Given the description of an element on the screen output the (x, y) to click on. 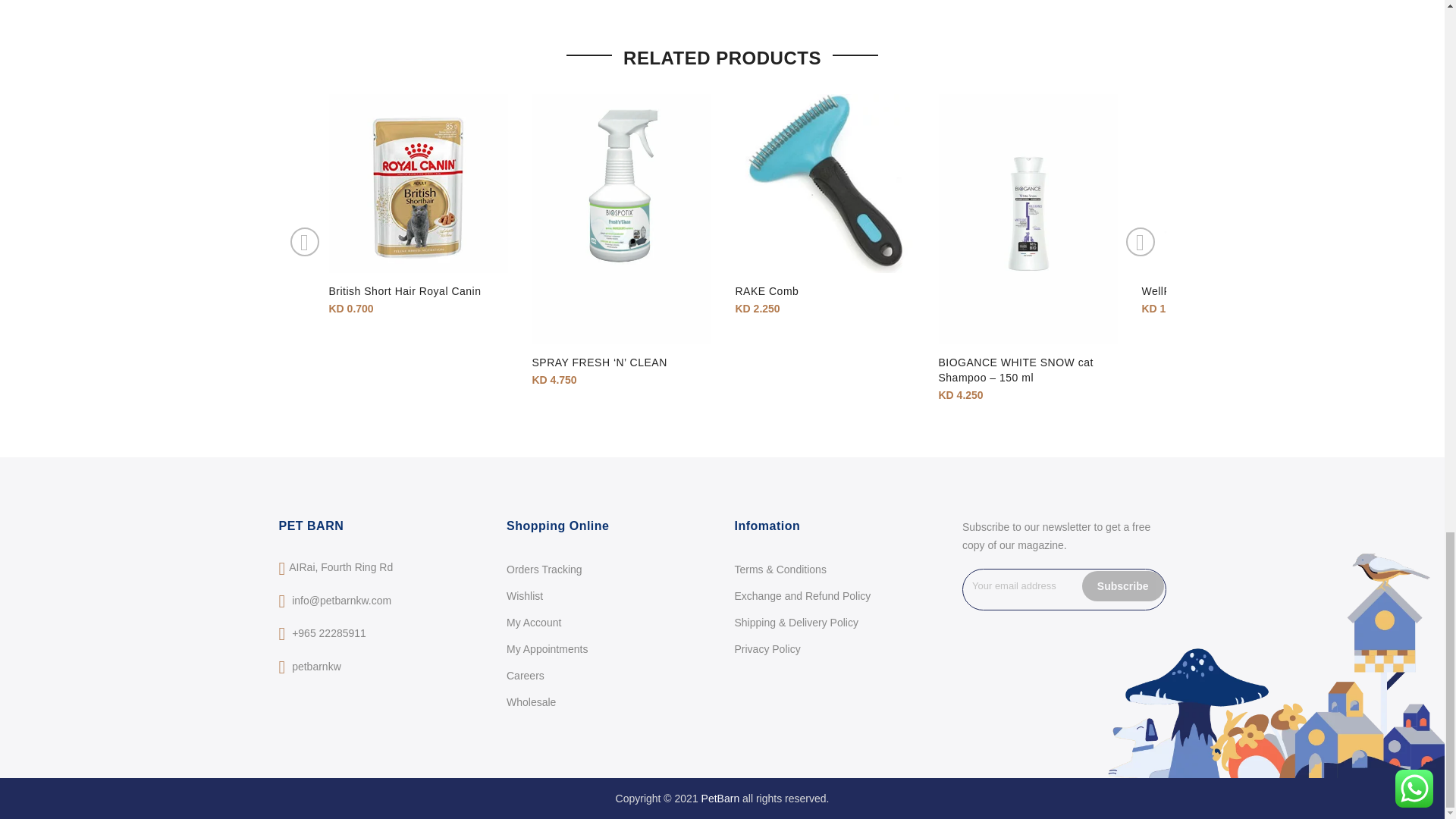
c81f7aa80f77f23dac7687ec836e92f5b896452d.png (214, 218)
Subscribe (1122, 585)
